Given the description of an element on the screen output the (x, y) to click on. 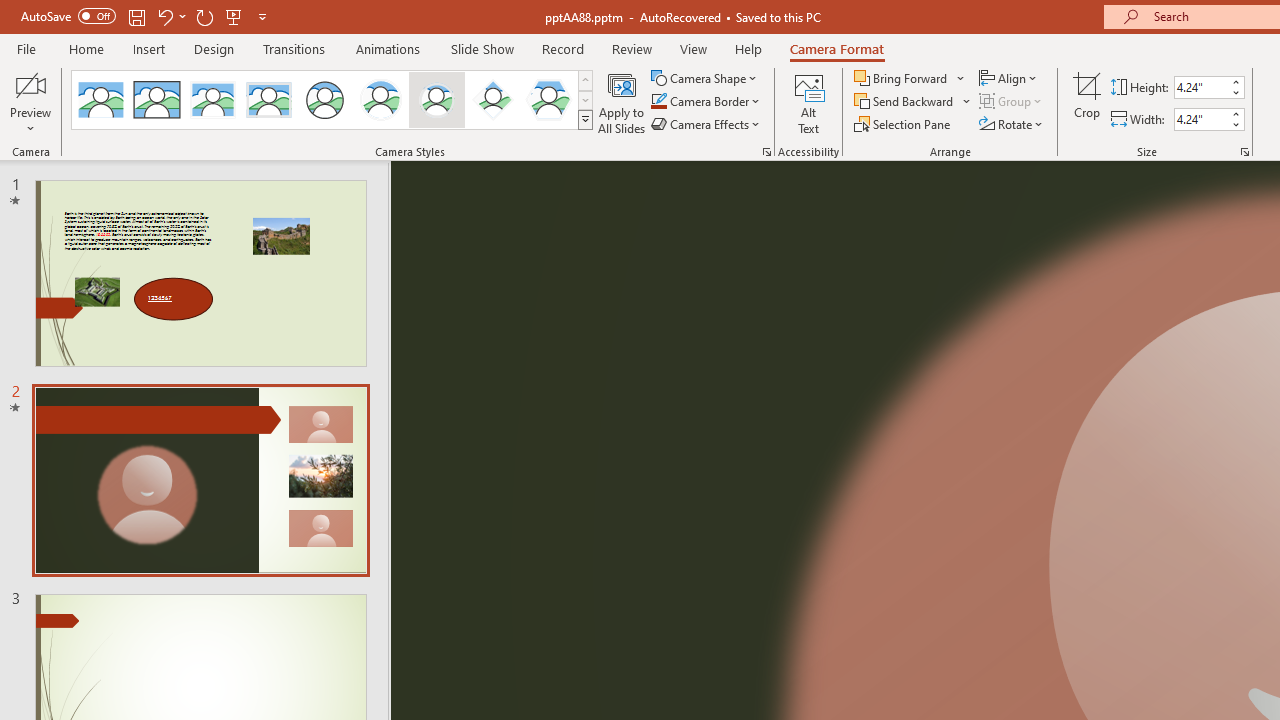
Undo (164, 15)
Group (1012, 101)
Rotate (1012, 124)
Slide (200, 480)
Quick Access Toolbar (145, 16)
Camera Shape (705, 78)
Camera Effects (706, 124)
Design (214, 48)
Less (1235, 124)
Simple Frame Circle (324, 100)
Camera Border (706, 101)
AutomationID: CameoStylesGallery (333, 99)
Apply to All Slides (621, 102)
Save (136, 15)
No Style (100, 100)
